Given the description of an element on the screen output the (x, y) to click on. 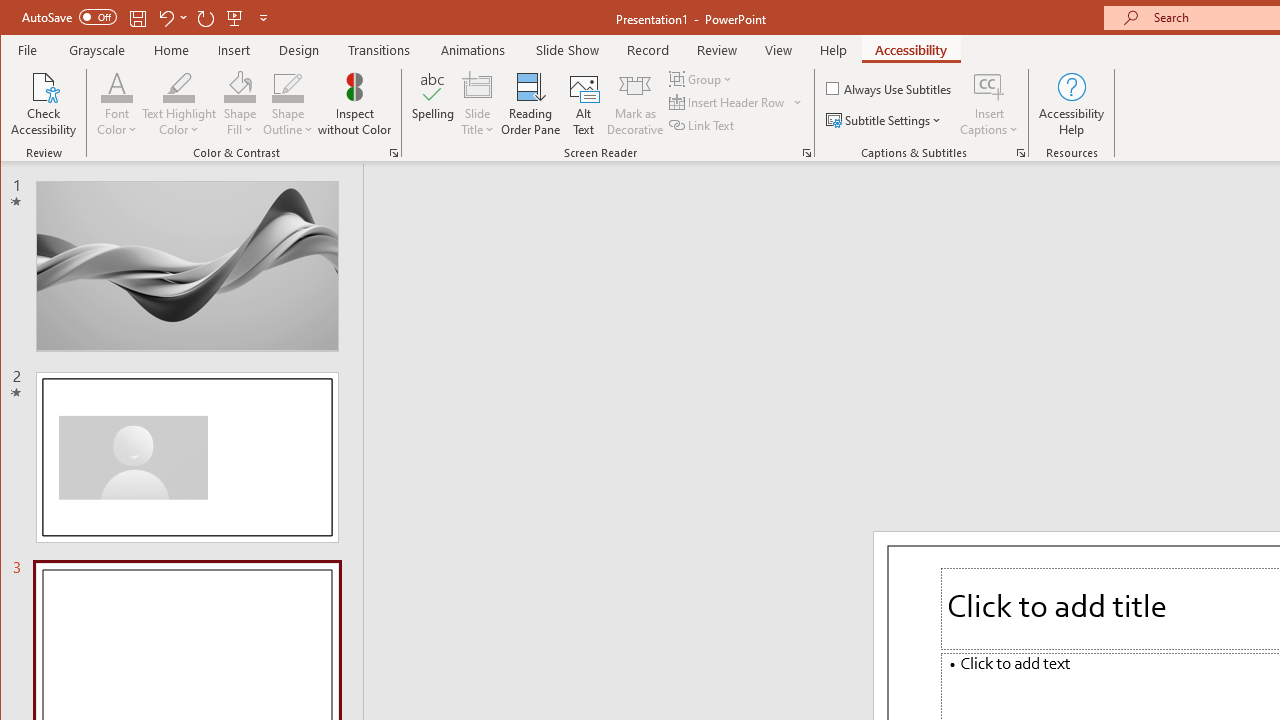
Text Highlight Color (178, 86)
Always Use Subtitles (890, 88)
Shape Outline Blue, Accent 1 (288, 86)
Font Color (116, 104)
Slide Title (477, 104)
Accessibility Help (1071, 104)
Link Text (703, 124)
Subtitle Settings (885, 119)
